Given the description of an element on the screen output the (x, y) to click on. 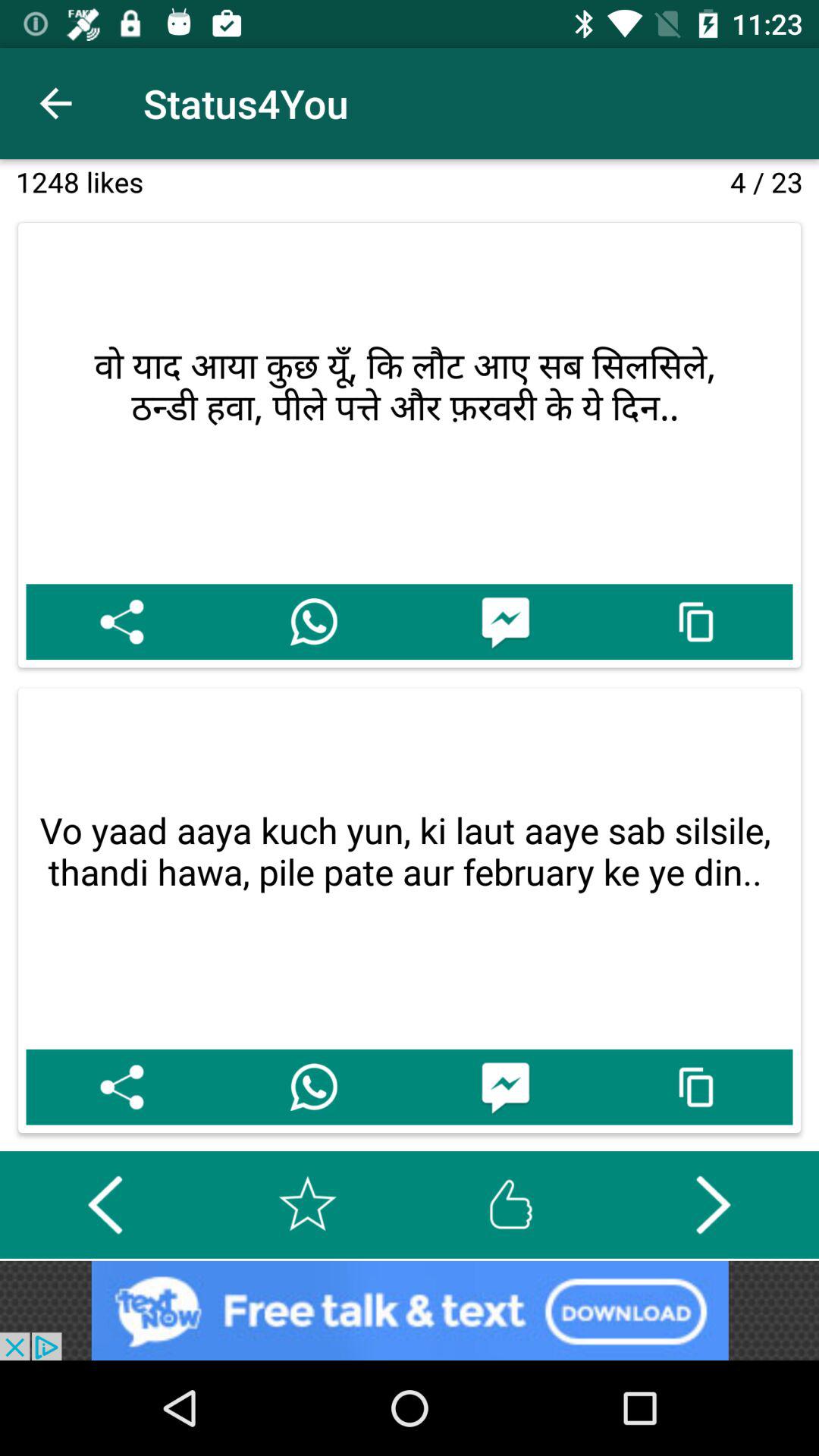
chat (505, 621)
